Given the description of an element on the screen output the (x, y) to click on. 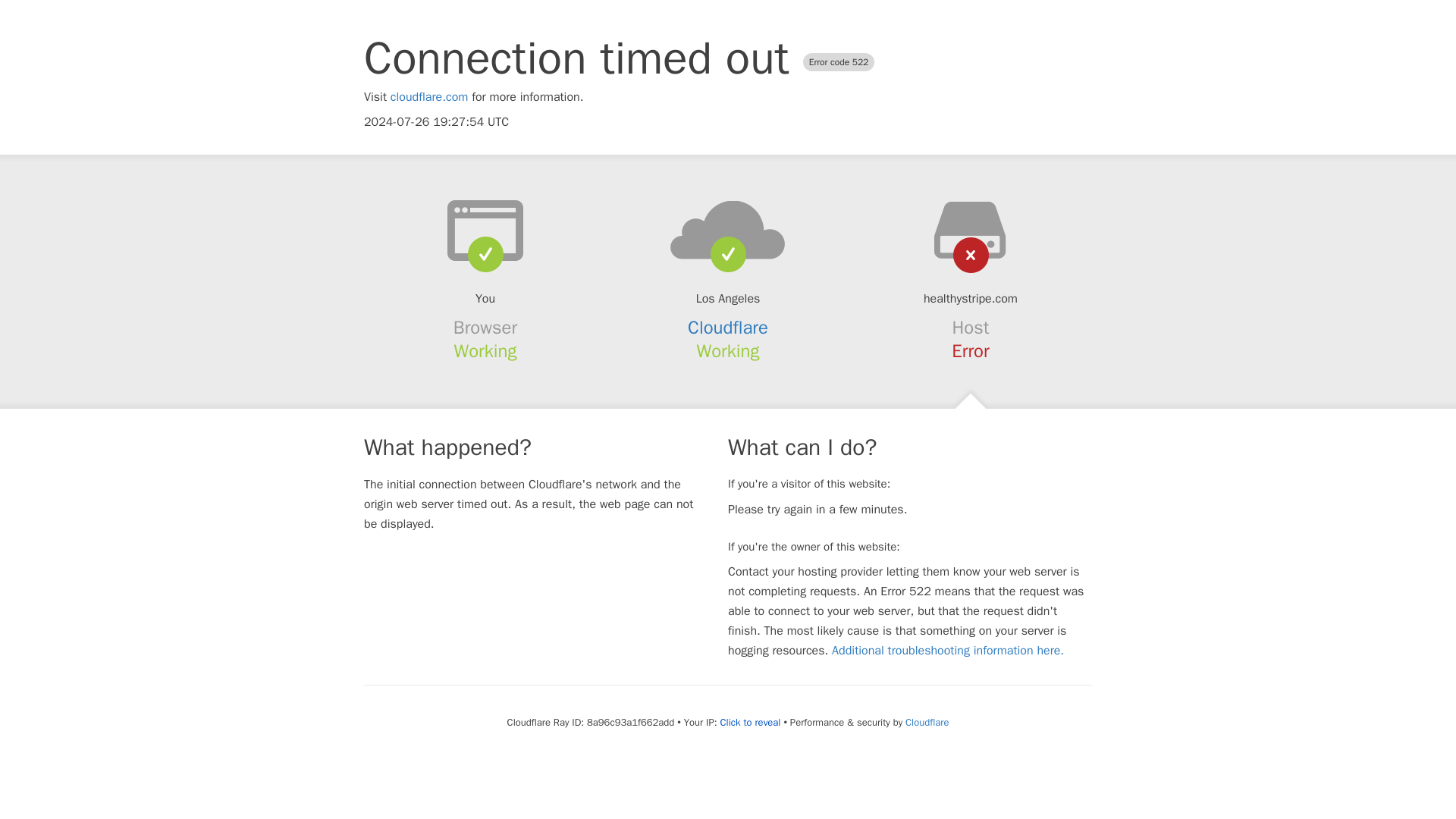
Cloudflare (927, 721)
Cloudflare (727, 327)
cloudflare.com (429, 96)
Additional troubleshooting information here. (947, 650)
Click to reveal (750, 722)
